Given the description of an element on the screen output the (x, y) to click on. 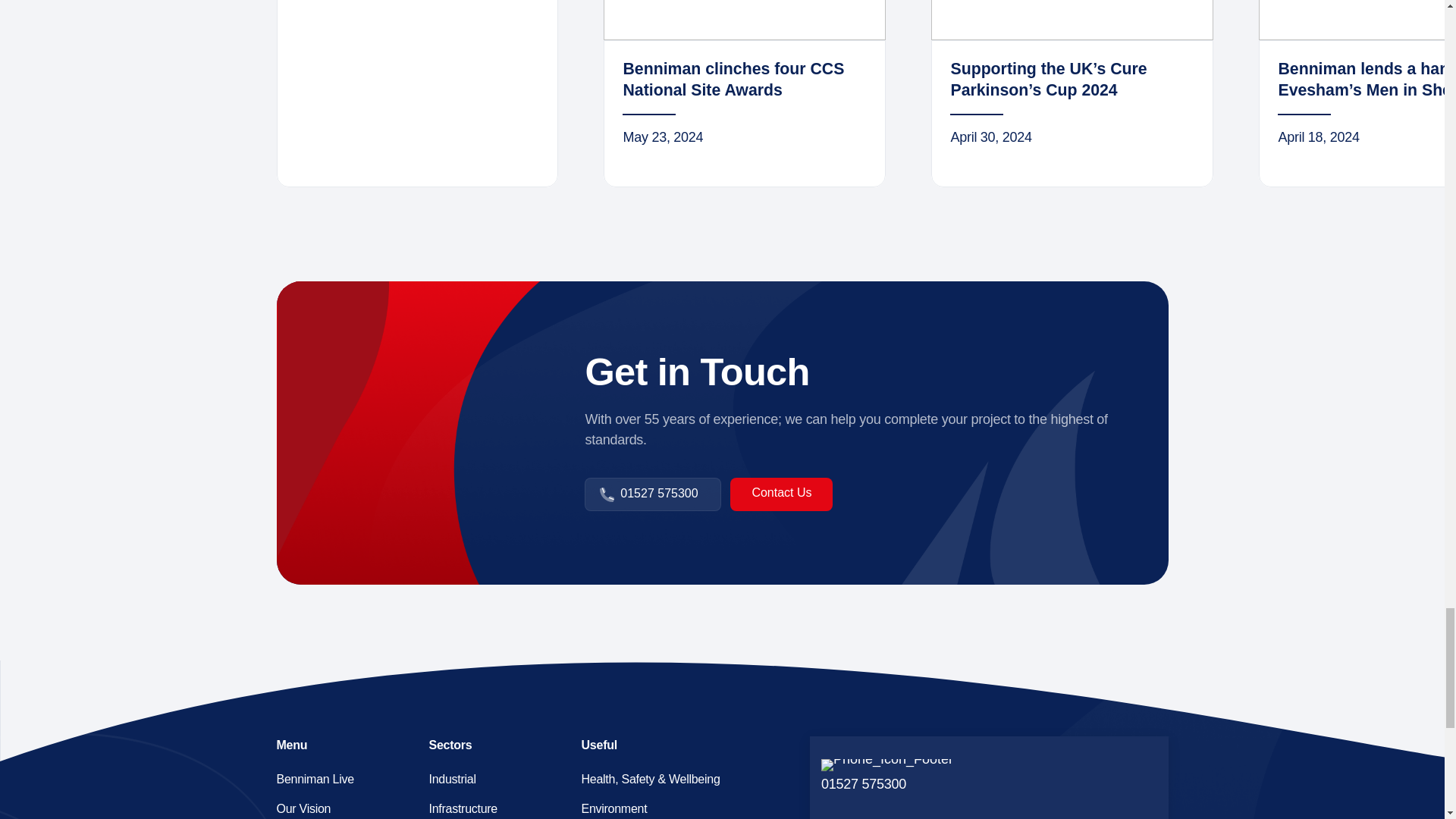
Our Vision (341, 807)
Industrial (744, 93)
01527 575300 (494, 778)
Contact Us (652, 494)
Benniman Live (781, 494)
